Given the description of an element on the screen output the (x, y) to click on. 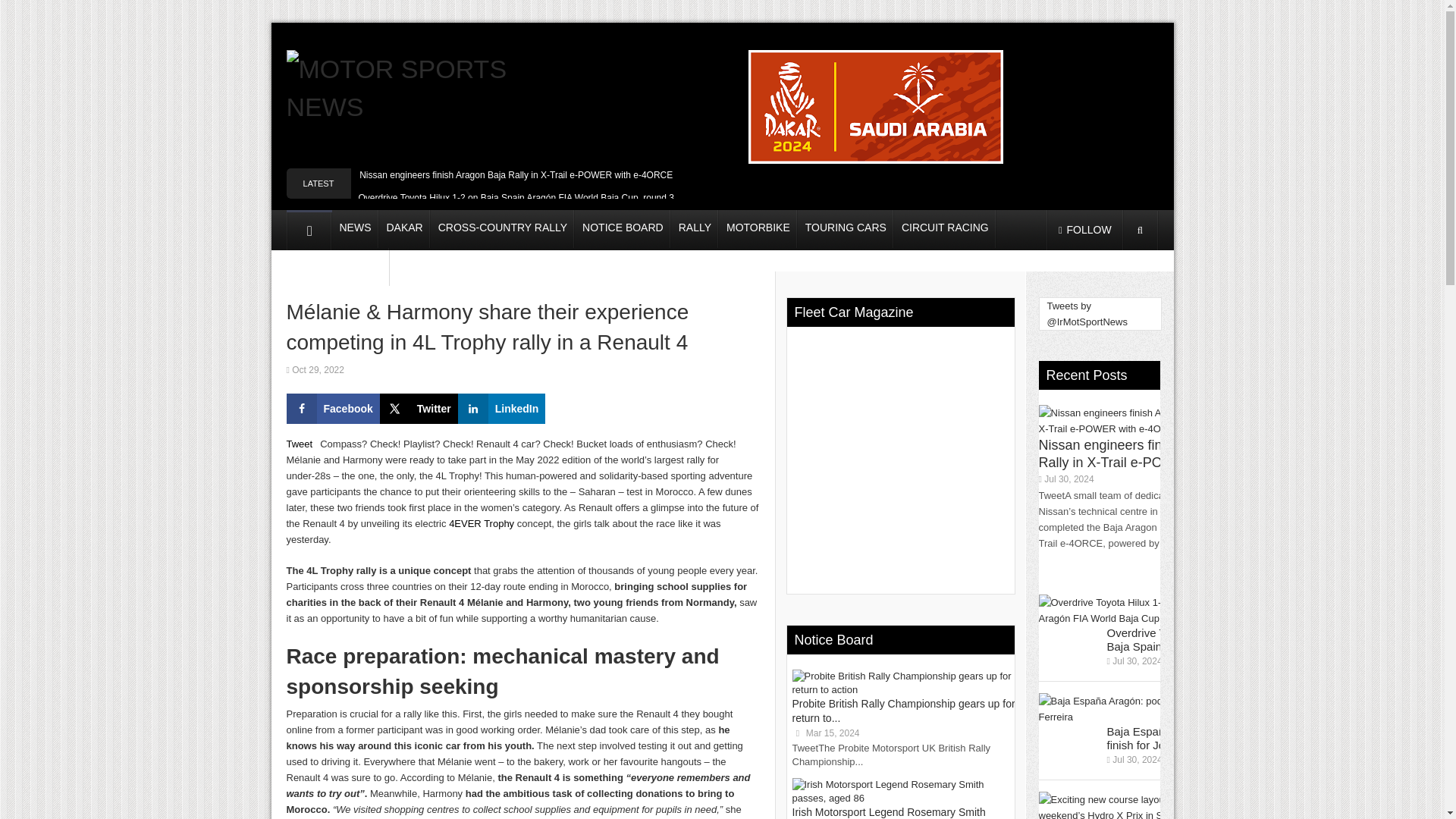
Share on X (419, 408)
DAKAR (404, 228)
RALLY (695, 228)
Share on Facebook (333, 408)
LinkedIn (502, 408)
FOLLOW (1084, 229)
Tweet (299, 443)
NEWS (354, 228)
CIRCUIT RACING (944, 228)
Facebook (333, 408)
MOTORBIKE (758, 228)
TOURING CARS (845, 228)
Twitter (419, 408)
NOTICE BOARD (623, 228)
EVENTS (360, 266)
